Given the description of an element on the screen output the (x, y) to click on. 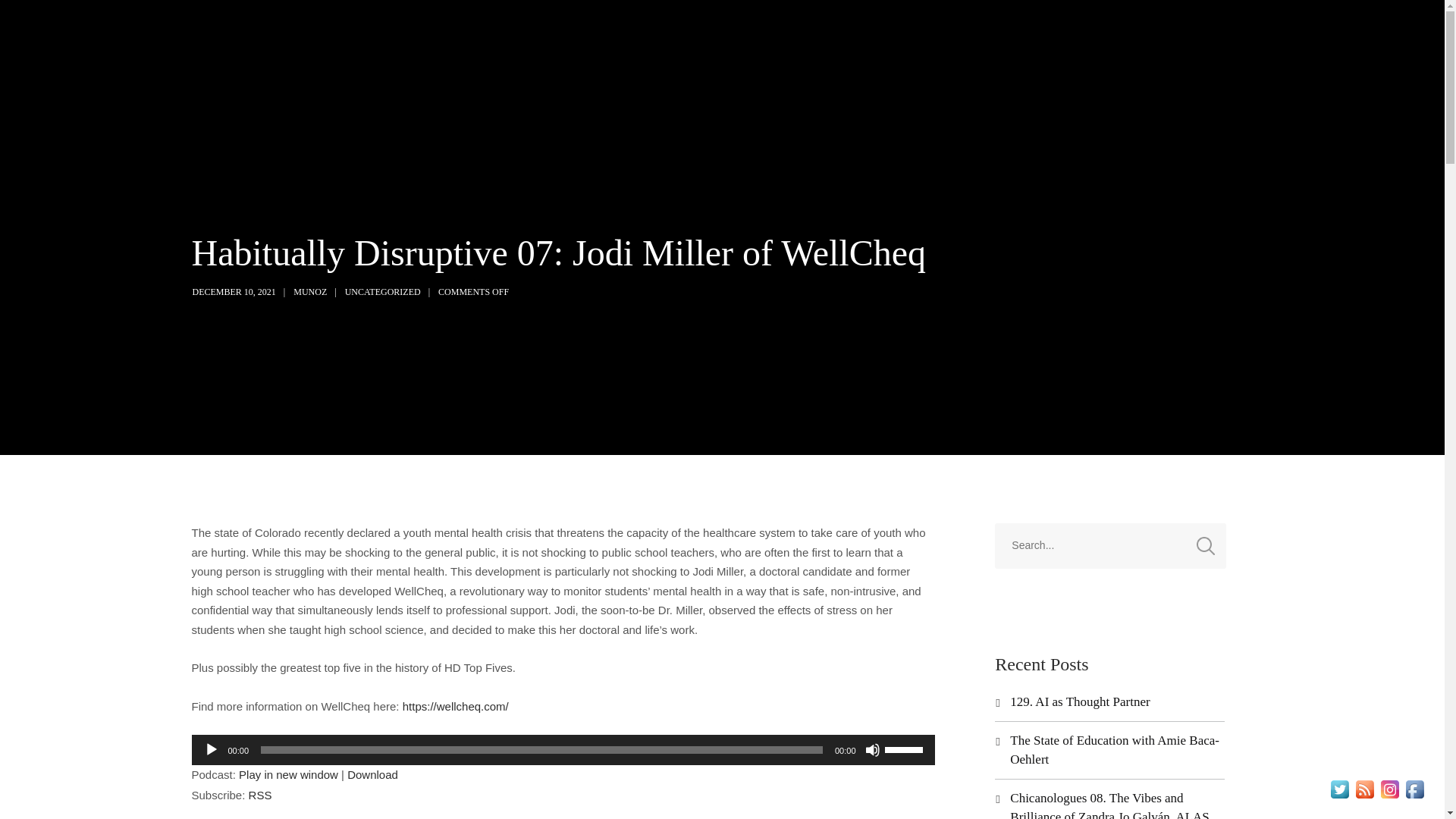
RSS (260, 794)
Download (372, 774)
Visit Us On Facebook (1414, 788)
Play (210, 749)
Play in new window (287, 774)
Visit Us On Instagram (1389, 788)
Subscribe via RSS (260, 794)
Visit Us On Twitter (1339, 788)
Play in new window (287, 774)
Submit (31, 22)
Check Our Feed (1364, 788)
MUNOZ (310, 291)
129. AI as Thought Partner (1080, 701)
Mute (871, 749)
UNCATEGORIZED (382, 291)
